Given the description of an element on the screen output the (x, y) to click on. 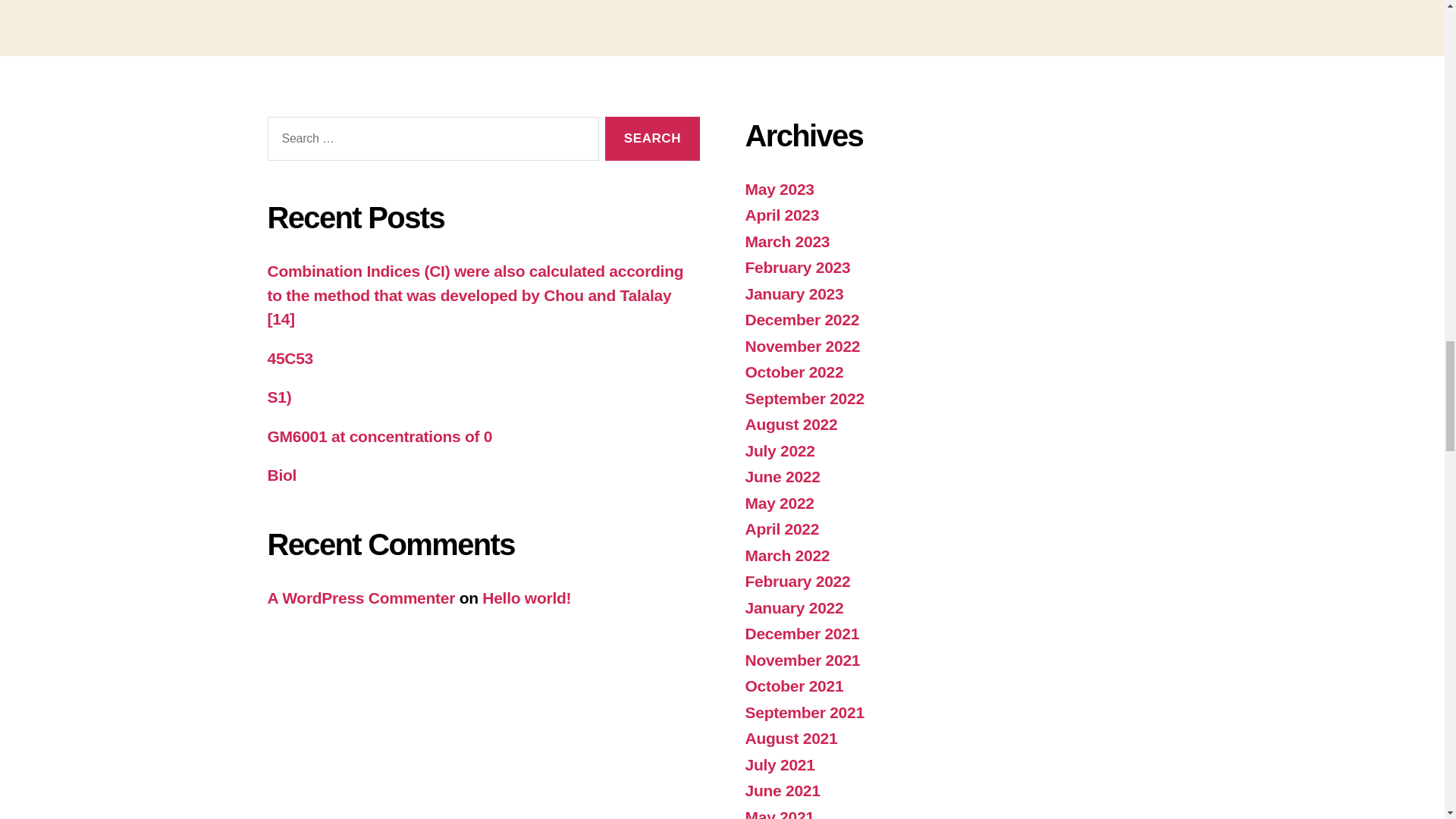
May 2022 (778, 502)
Hello world! (525, 597)
December 2022 (801, 319)
Search (651, 139)
January 2023 (793, 293)
October 2022 (793, 371)
April 2022 (781, 528)
February 2023 (797, 267)
Search (651, 139)
A WordPress Commenter (360, 597)
